Given the description of an element on the screen output the (x, y) to click on. 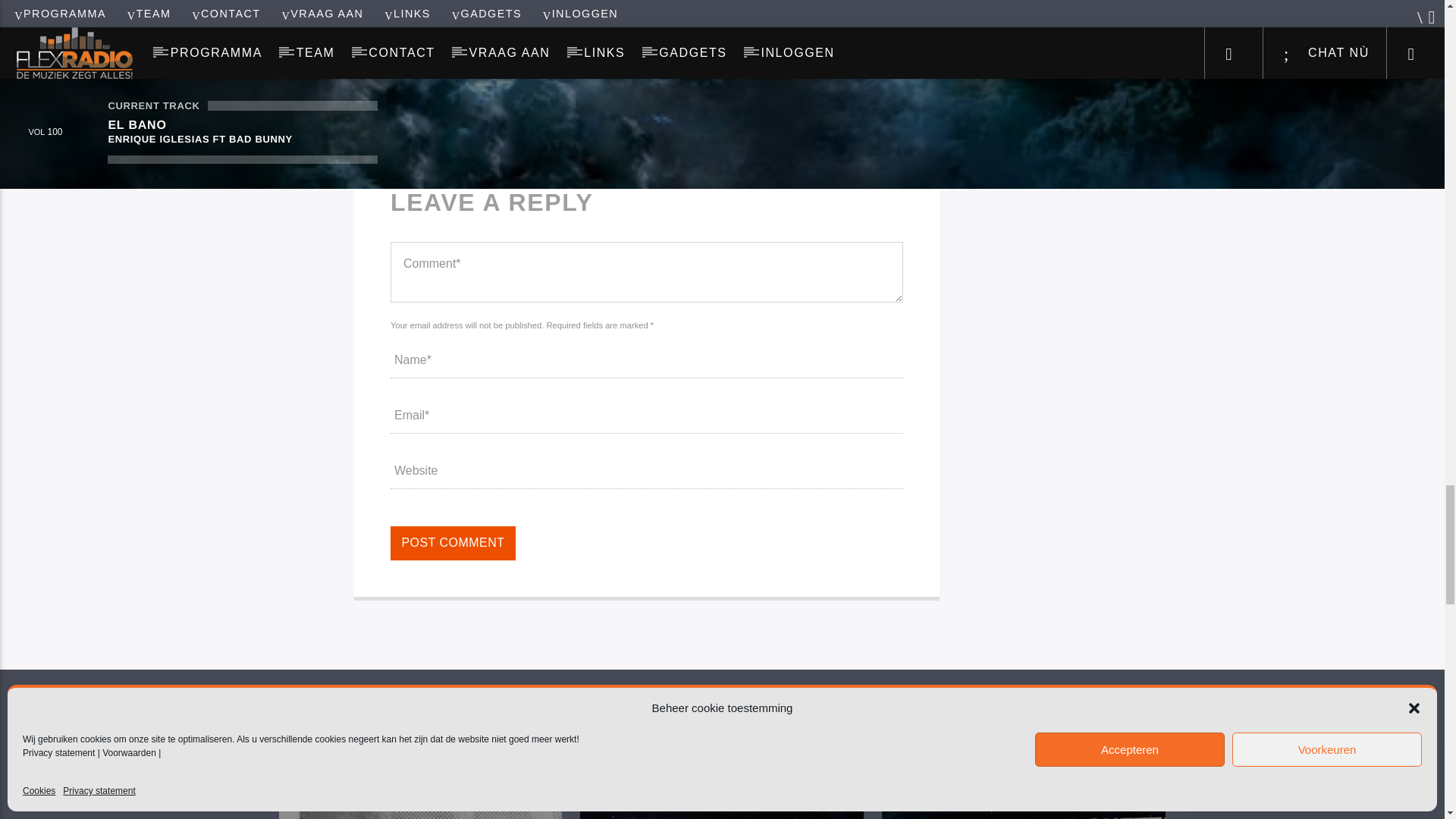
Post Comment (452, 543)
